Given the description of an element on the screen output the (x, y) to click on. 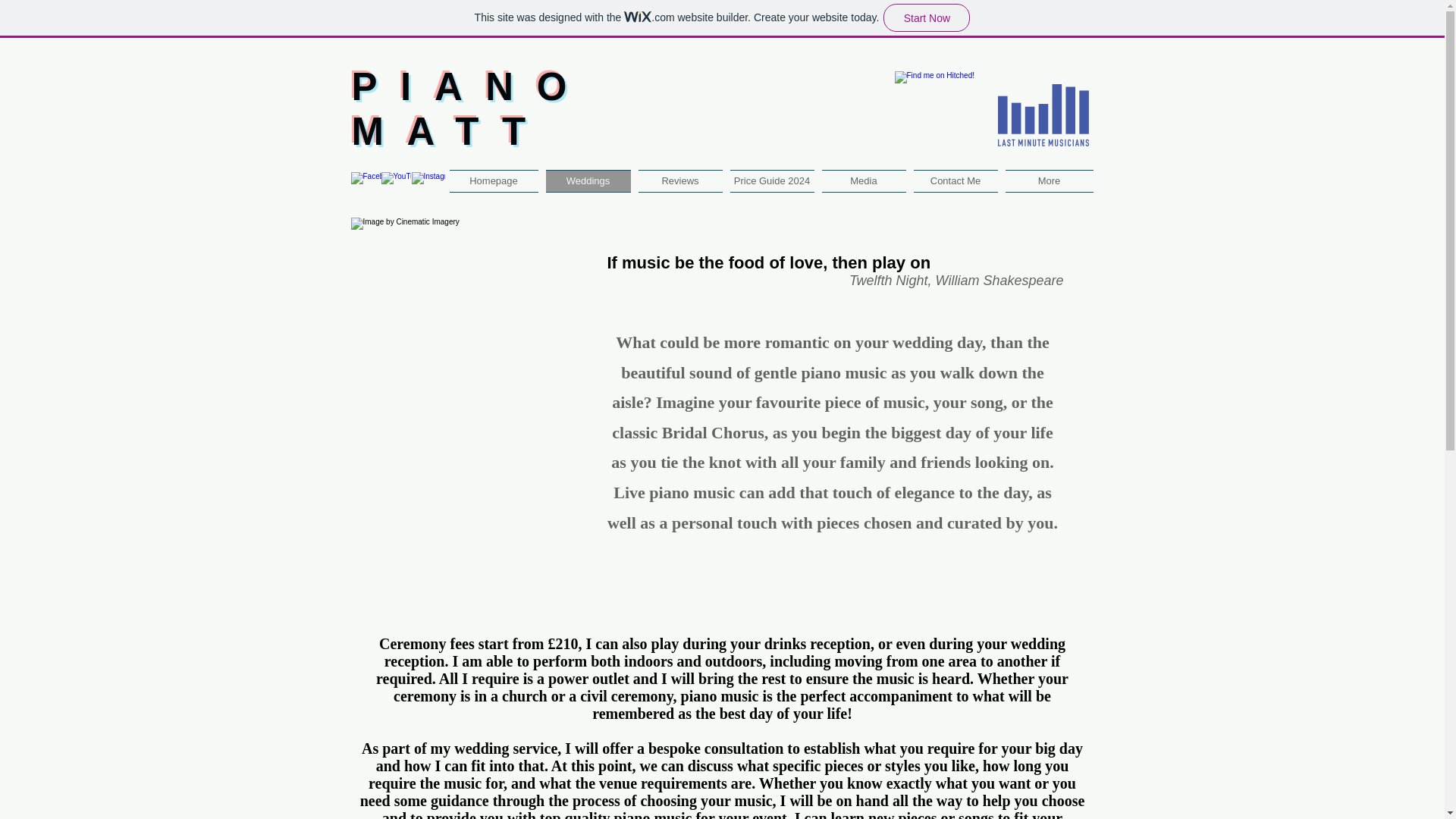
Weddings (587, 180)
Media (862, 180)
Price Guide 2024 (772, 180)
Reviews (471, 109)
Contact Me (679, 180)
Homepage (955, 180)
